Given the description of an element on the screen output the (x, y) to click on. 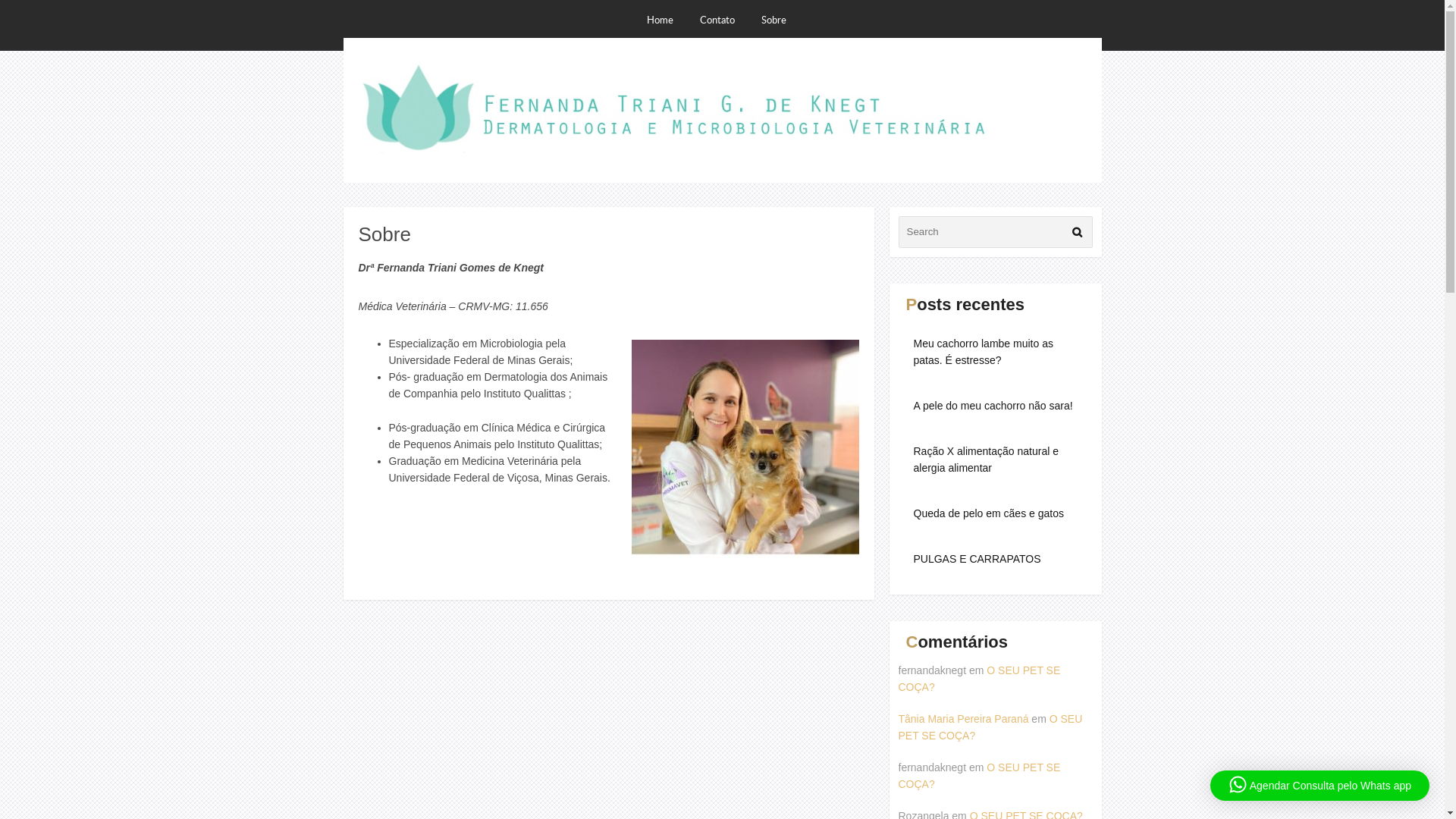
Agendar Consulta pelo Whats app Element type: text (1319, 785)
Home Element type: text (665, 17)
Contato Element type: text (722, 17)
PULGAS E CARRAPATOS Element type: text (994, 558)
Sobre Element type: text (779, 17)
